Given the description of an element on the screen output the (x, y) to click on. 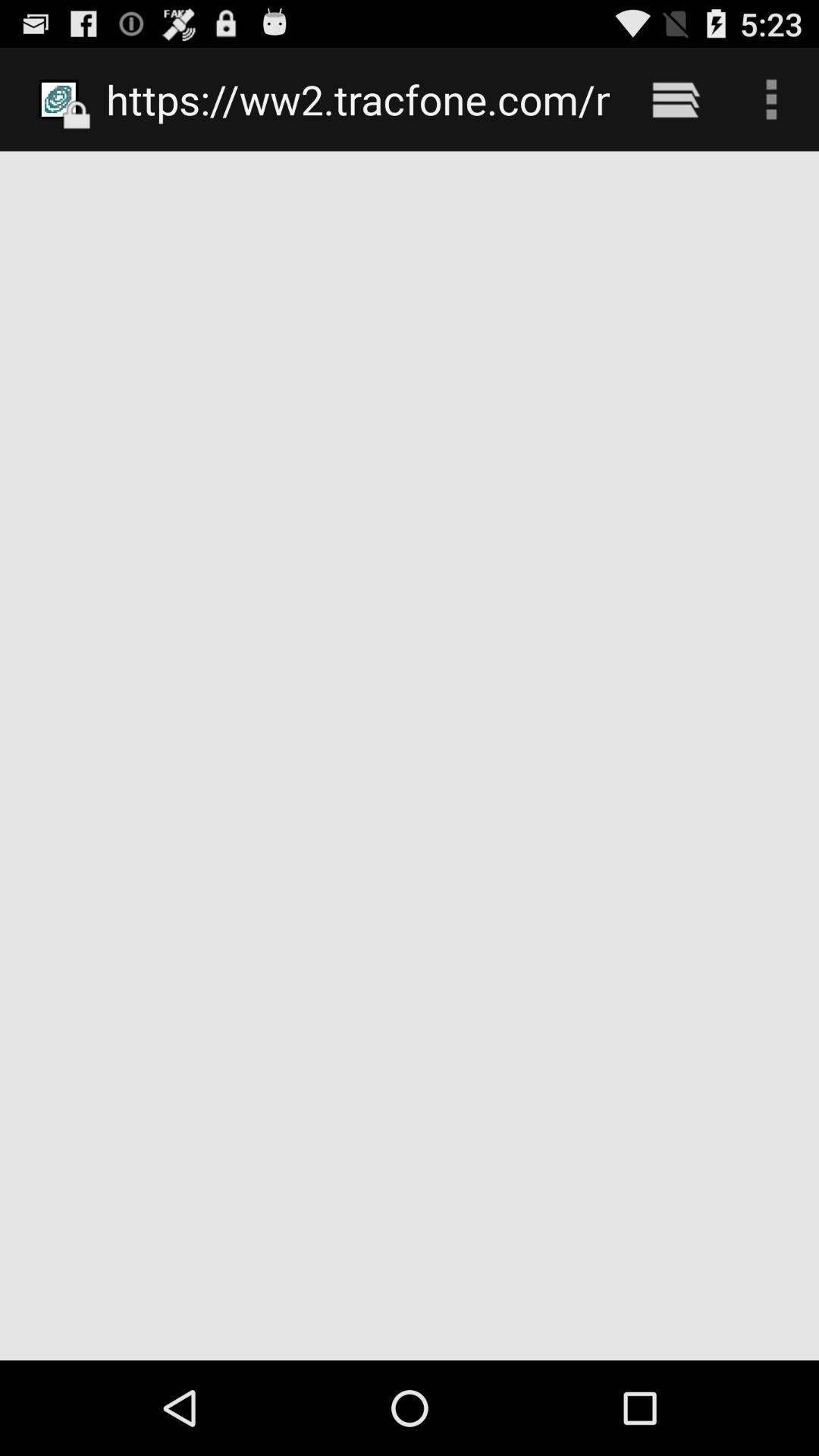
select the item next to the https ww2 tracfone icon (675, 99)
